Given the description of an element on the screen output the (x, y) to click on. 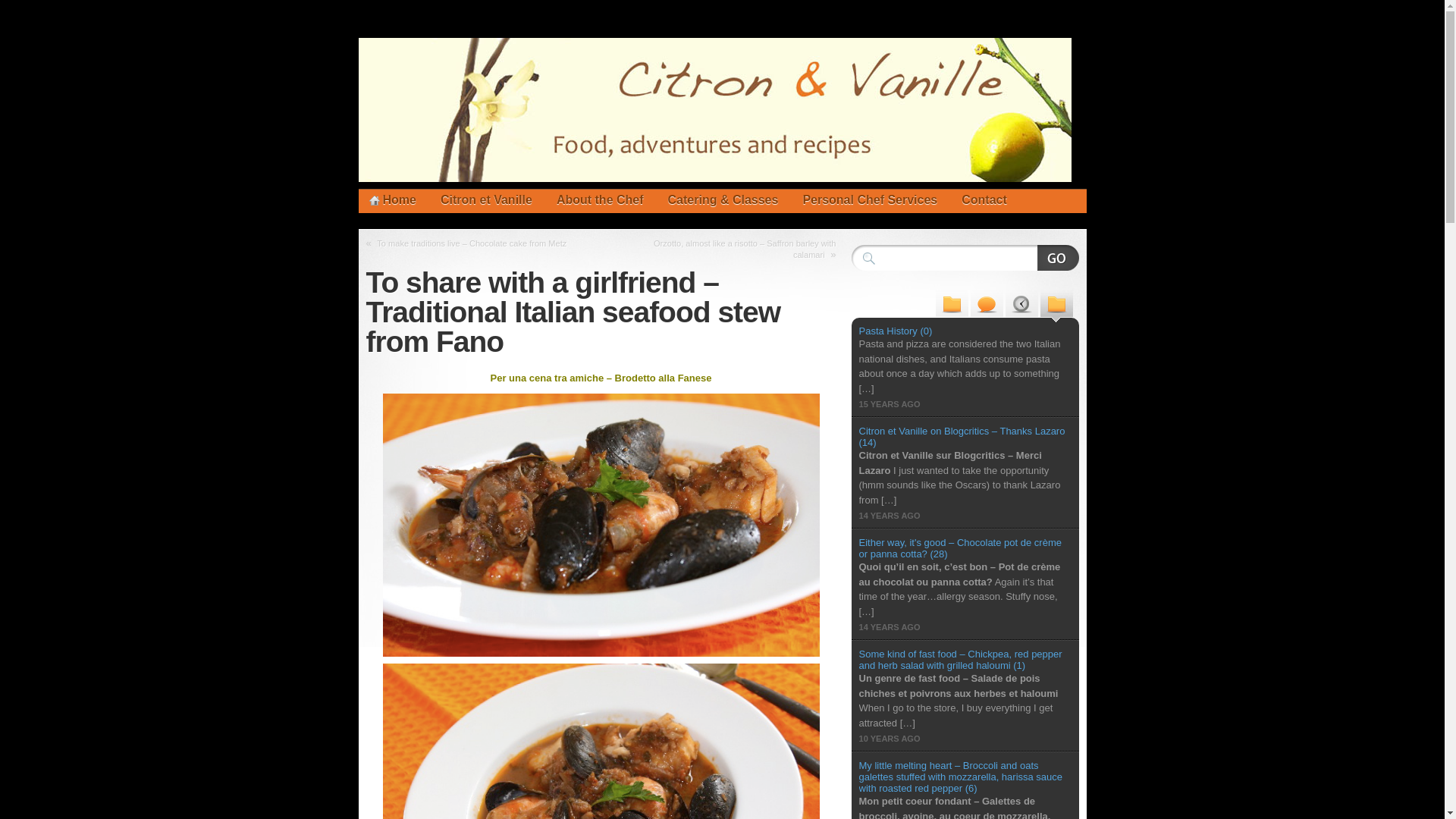
brodetto2web (599, 741)
Contact (983, 200)
Home Page (392, 200)
About the Chef (599, 200)
undefined (1050, 189)
Citron et Vanille (486, 200)
brodettoweb (599, 524)
RSS (998, 189)
Personal Chef Services (869, 200)
Home (392, 200)
